Given the description of an element on the screen output the (x, y) to click on. 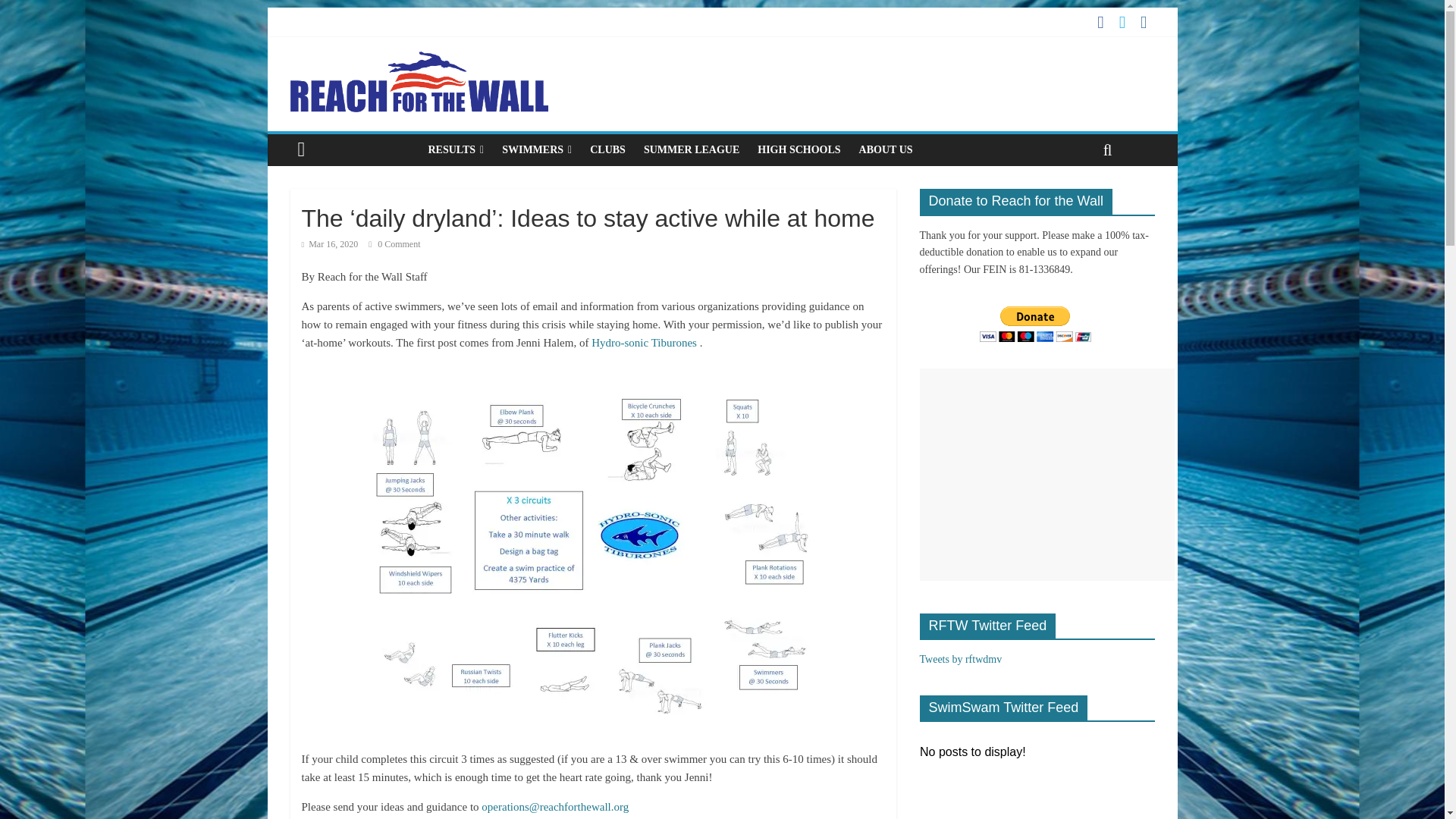
ReachForTheWall (418, 60)
SUMMER LEAGUE (691, 150)
CLUBS (607, 150)
Hydro-sonic Tiburones (645, 342)
11:12 am (329, 244)
ABOUT US (885, 150)
Advertisement (1045, 474)
SWIMMERS (536, 150)
Tweets by rftwdmv (959, 659)
HIGH SCHOOLS (798, 150)
Mar 16, 2020 (329, 244)
0 Comment (394, 244)
RESULTS (456, 150)
